Given the description of an element on the screen output the (x, y) to click on. 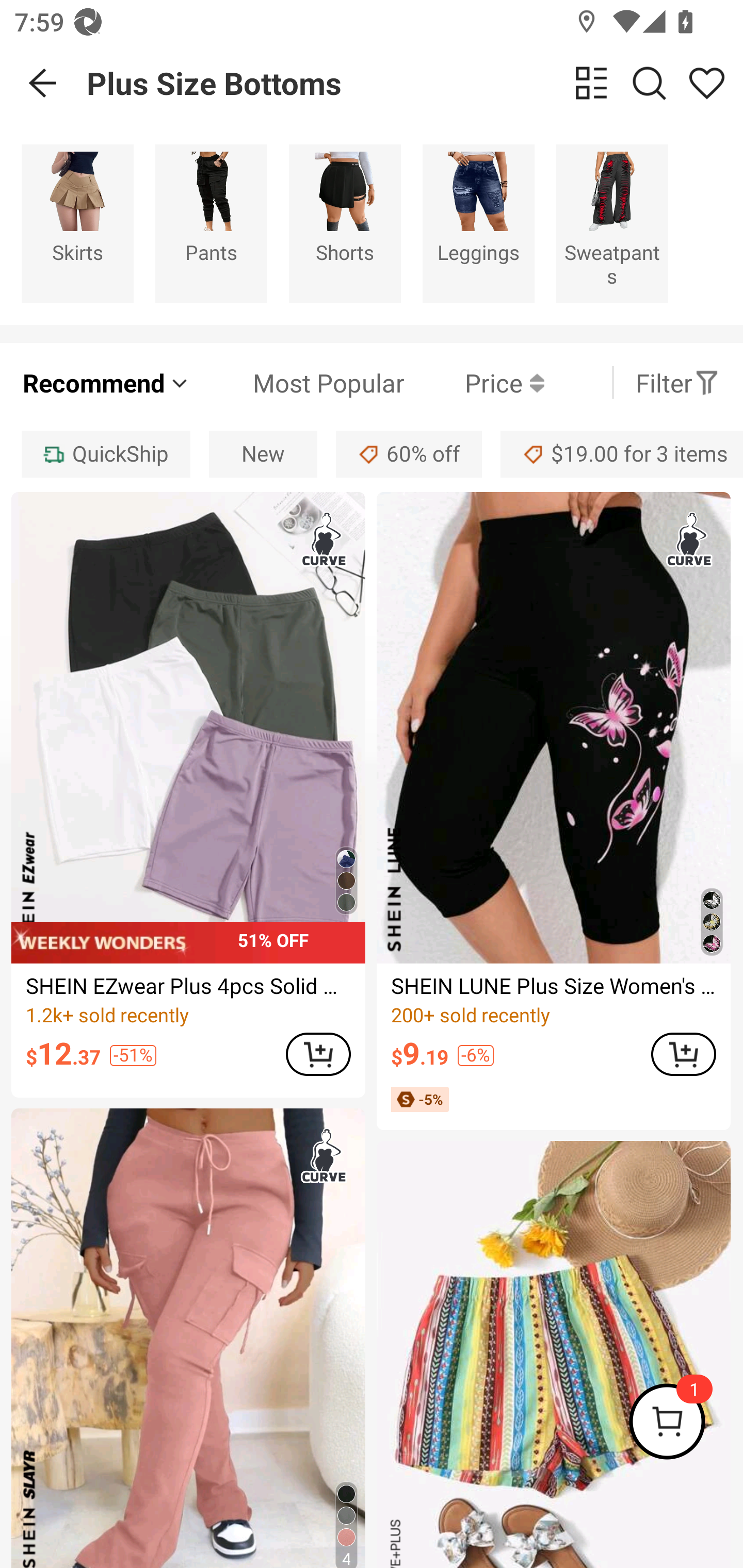
Plus Size Bottoms change view Search Share (414, 82)
change view (591, 82)
Search (648, 82)
Share (706, 82)
Skirts (77, 223)
Pants (211, 223)
Shorts (345, 223)
Leggings (478, 223)
Sweatpants (611, 223)
Recommend (106, 382)
Most Popular (297, 382)
Price (474, 382)
Filter (677, 382)
QuickShip (105, 454)
New (262, 454)
60% off (408, 454)
$19.00 for 3 items (621, 454)
ADD TO CART (318, 1054)
ADD TO CART (683, 1054)
SHEIN Plus Floral And Striped Shorts (553, 1354)
